Given the description of an element on the screen output the (x, y) to click on. 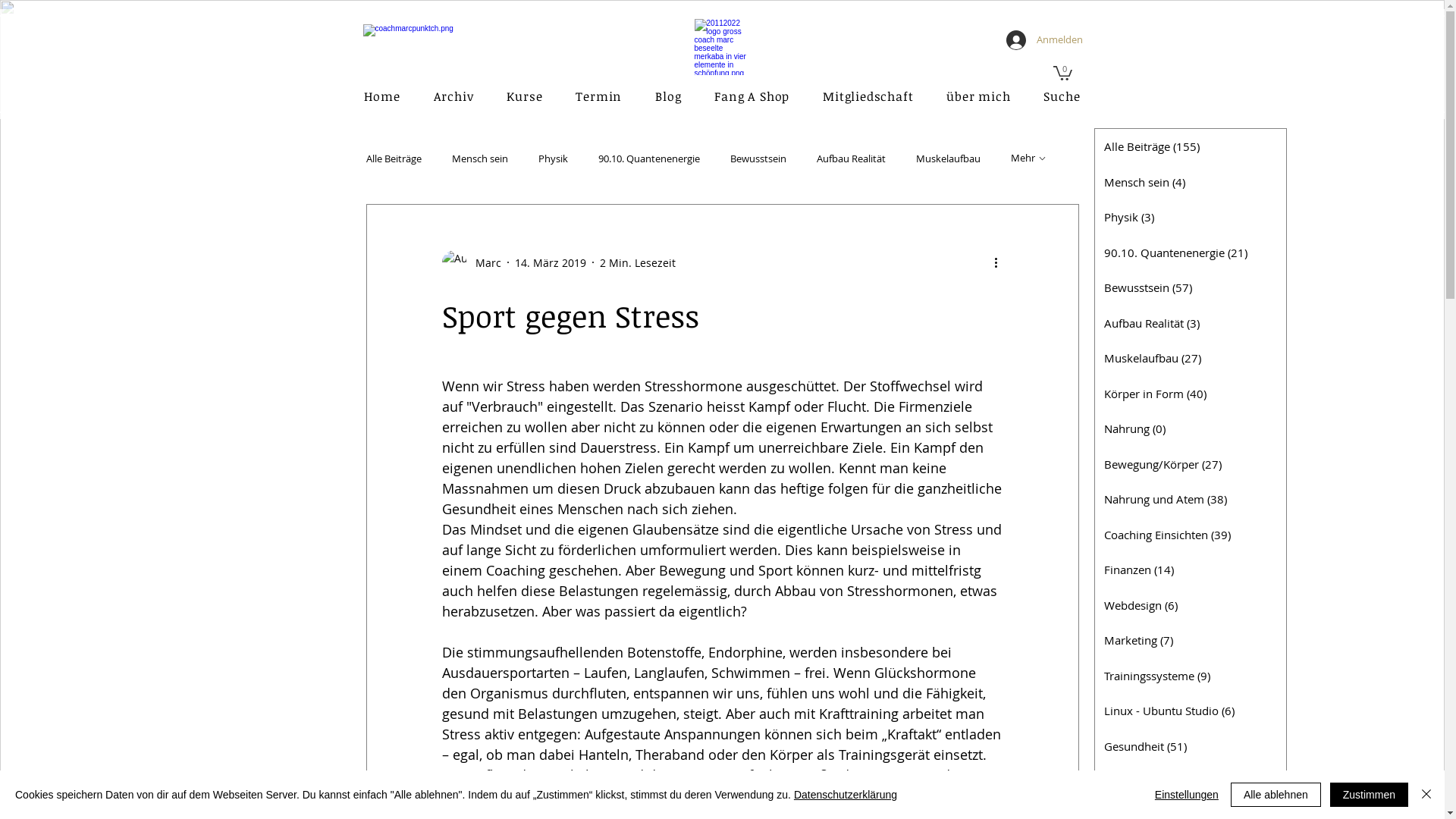
90.10. Quantenenergie (21) Element type: text (1190, 252)
Zustimmen Element type: text (1369, 794)
Coaching Einsichten (39) Element type: text (1190, 534)
Muskelaufbau Element type: text (948, 158)
Home Element type: text (381, 96)
Muskelaufbau (27) Element type: text (1190, 358)
Termin Element type: text (598, 96)
Linux - Ubuntu Studio (6) Element type: text (1190, 710)
Bewusstsein (57) Element type: text (1190, 287)
Nahrung (0) Element type: text (1190, 428)
Blog Element type: text (667, 96)
Mitgliedschaft Element type: text (867, 96)
Marc Element type: text (470, 262)
Fang A Shop Element type: text (751, 96)
Archiv Element type: text (453, 96)
Gesundheit (51) Element type: text (1190, 745)
Mensch sein (4) Element type: text (1190, 181)
Kurse Element type: text (523, 96)
Marketing (7) Element type: text (1190, 640)
90.10. Quantenenergie Element type: text (648, 158)
Mensch sein Element type: text (479, 158)
Webdesign (6) Element type: text (1190, 604)
Nahrung und Atem (38) Element type: text (1190, 499)
Trainingssysteme (9) Element type: text (1190, 675)
0 Element type: text (1061, 72)
Meditation (15) Element type: text (1190, 781)
Physik (3) Element type: text (1190, 217)
Suche Element type: text (1061, 96)
Alle ablehnen Element type: text (1275, 794)
Anmelden Element type: text (1039, 39)
Bewusstsein Element type: text (757, 158)
Physik Element type: text (552, 158)
Finanzen (14) Element type: text (1190, 569)
